Given the description of an element on the screen output the (x, y) to click on. 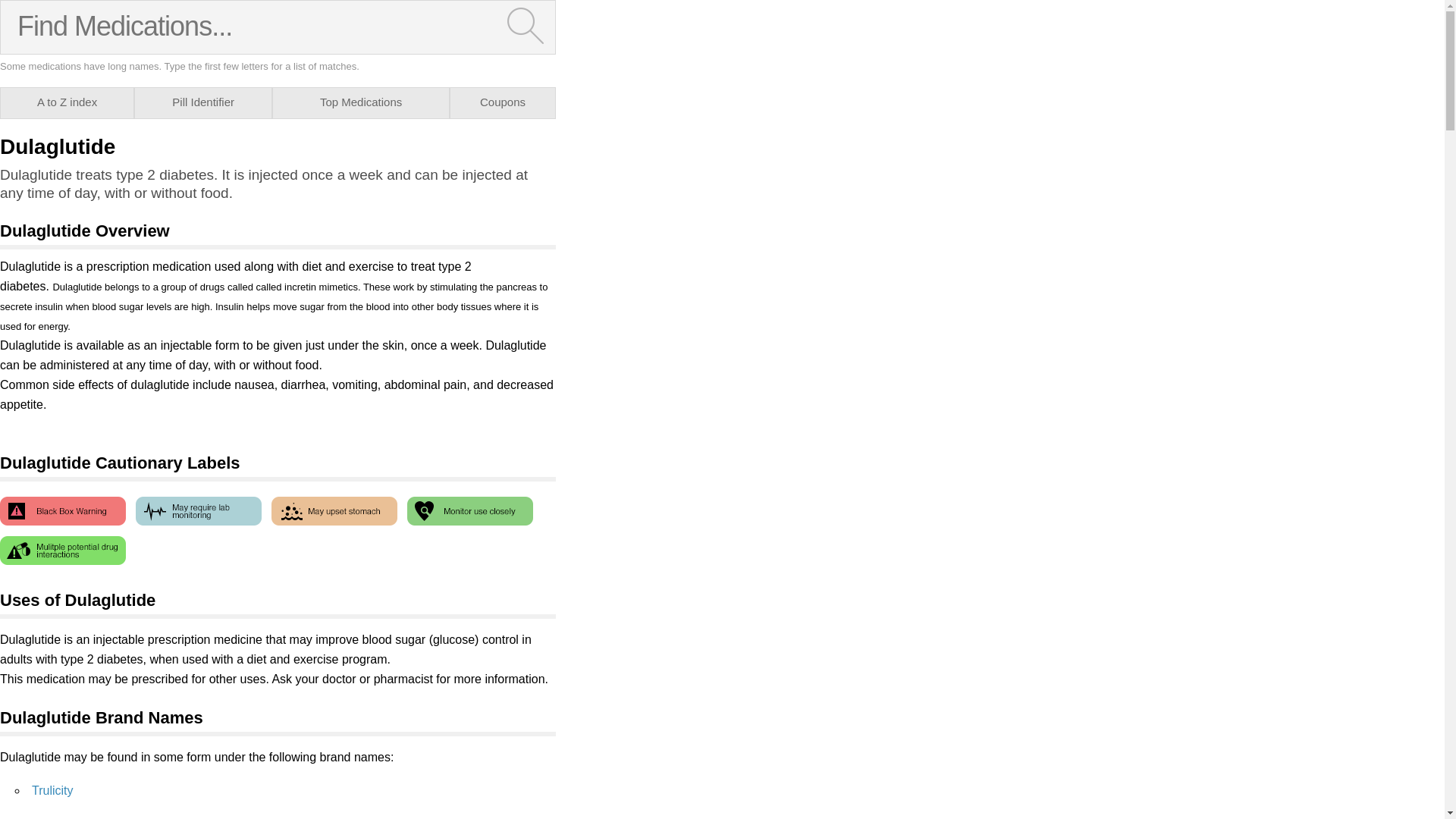
Coupons (501, 102)
Trulicity (53, 789)
Pill Identifier (202, 102)
Top Medications (360, 102)
A to Z index (67, 102)
